Given the description of an element on the screen output the (x, y) to click on. 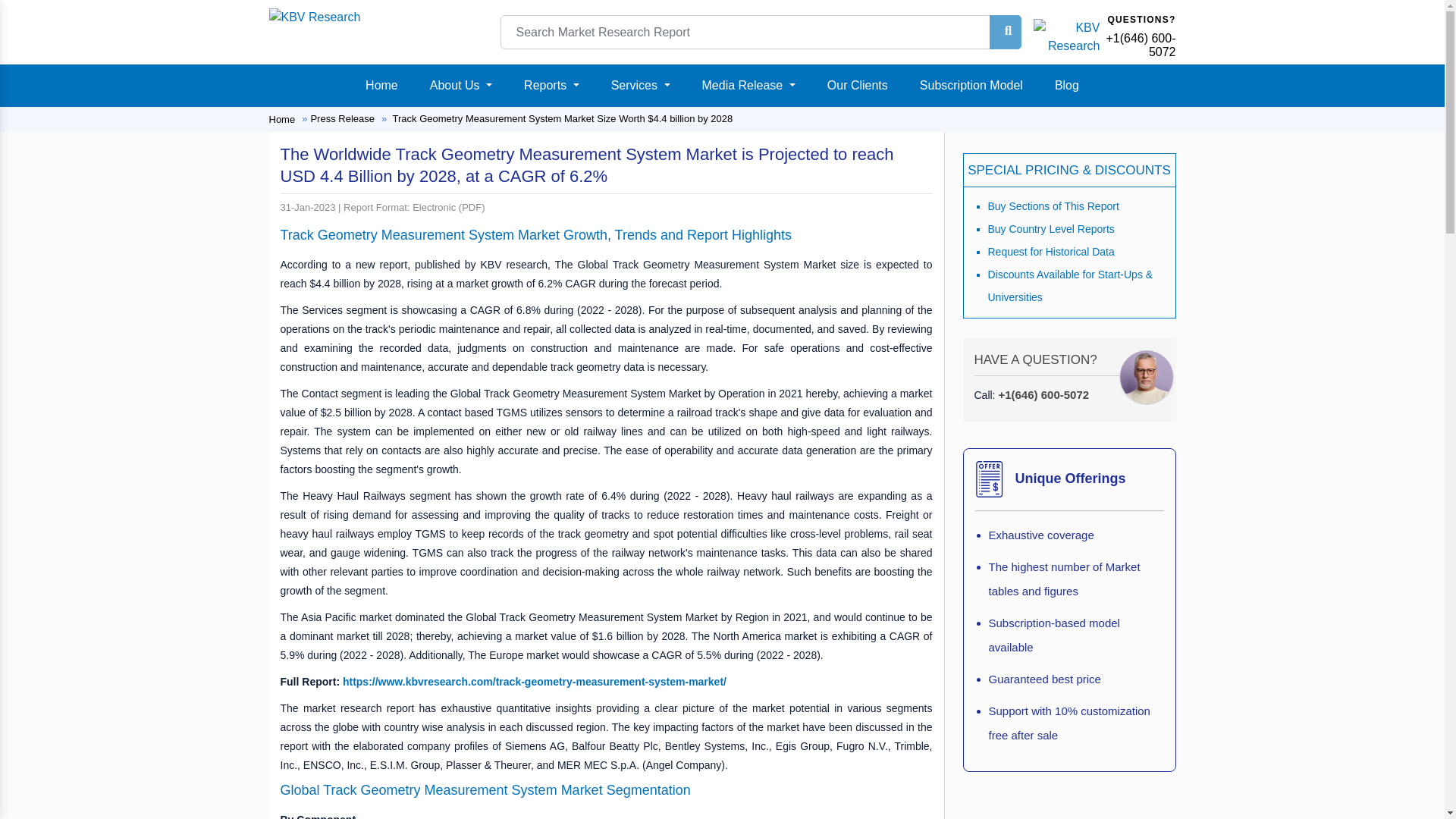
About Us (460, 85)
Subscription Model (971, 85)
Blog (1066, 85)
KBV Research (313, 17)
Services (641, 85)
Home (381, 85)
Our Clients (857, 85)
Media Release (748, 85)
Reports (551, 85)
